Given the description of an element on the screen output the (x, y) to click on. 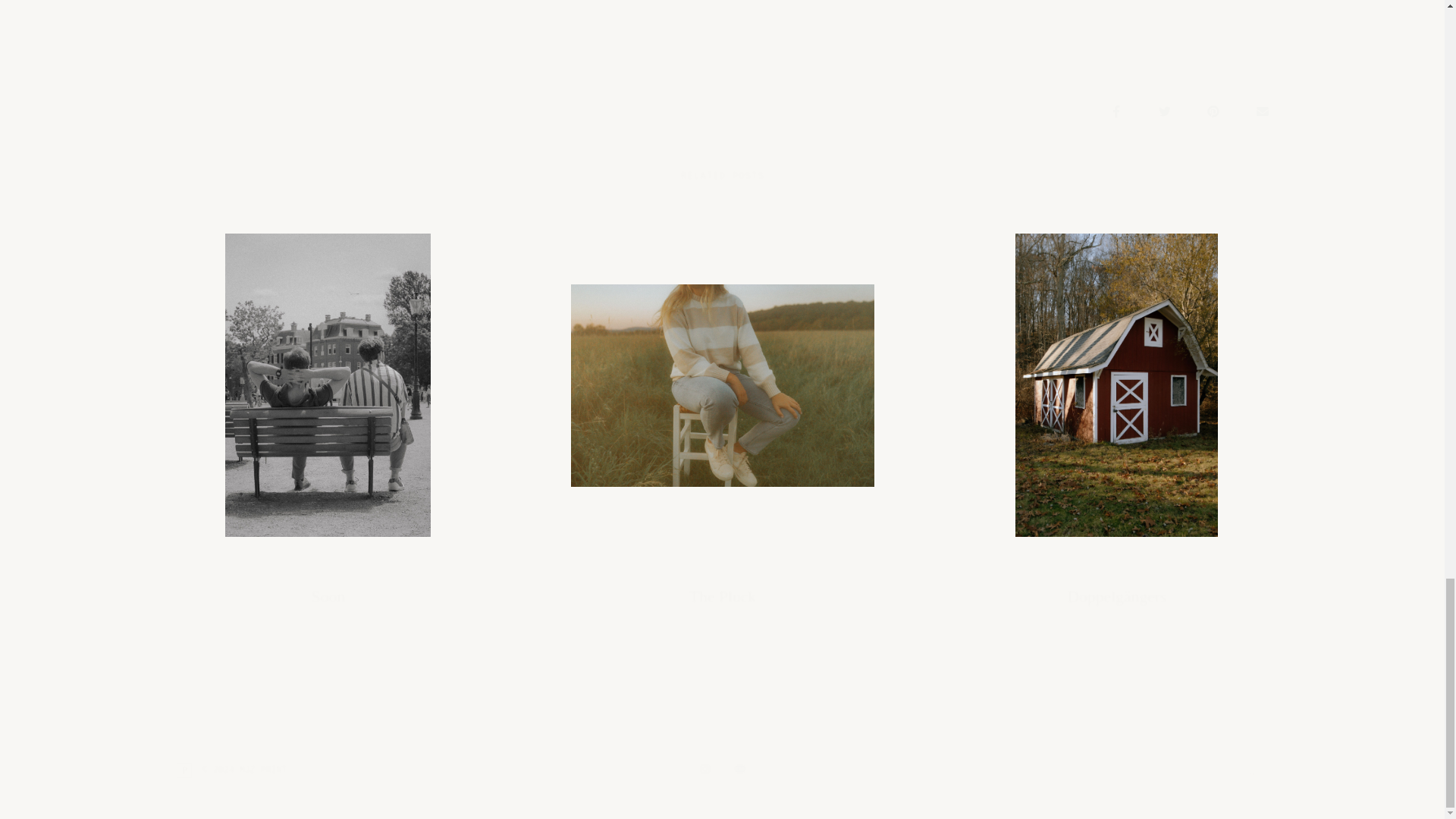
The Youngest of Us (360, 570)
The Youngest of Us (754, 570)
Blog (1186, 570)
